Given the description of an element on the screen output the (x, y) to click on. 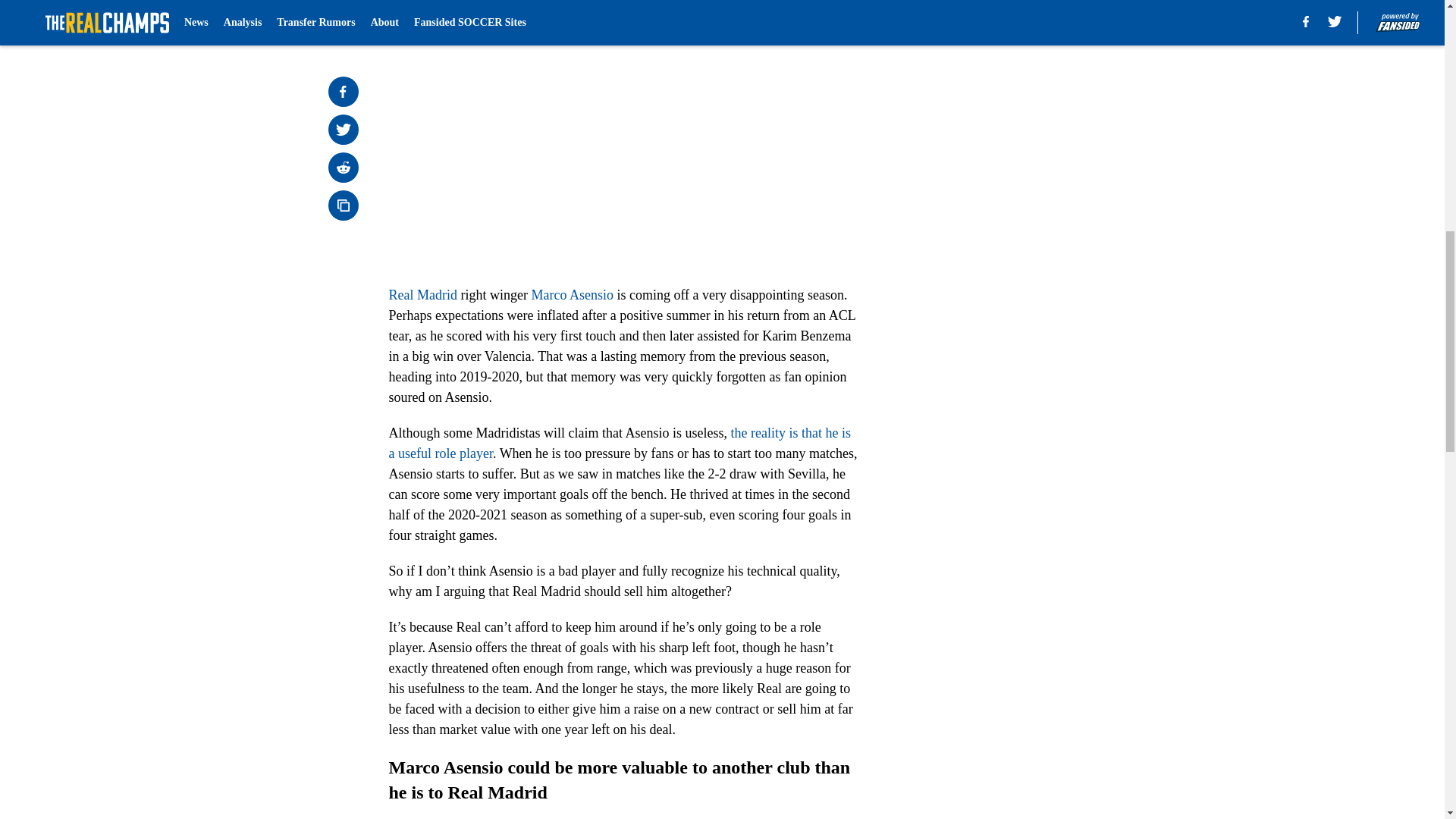
the reality is that he is a useful role player (619, 443)
Real Madrid (422, 294)
Marco Asensio (571, 294)
